Given the description of an element on the screen output the (x, y) to click on. 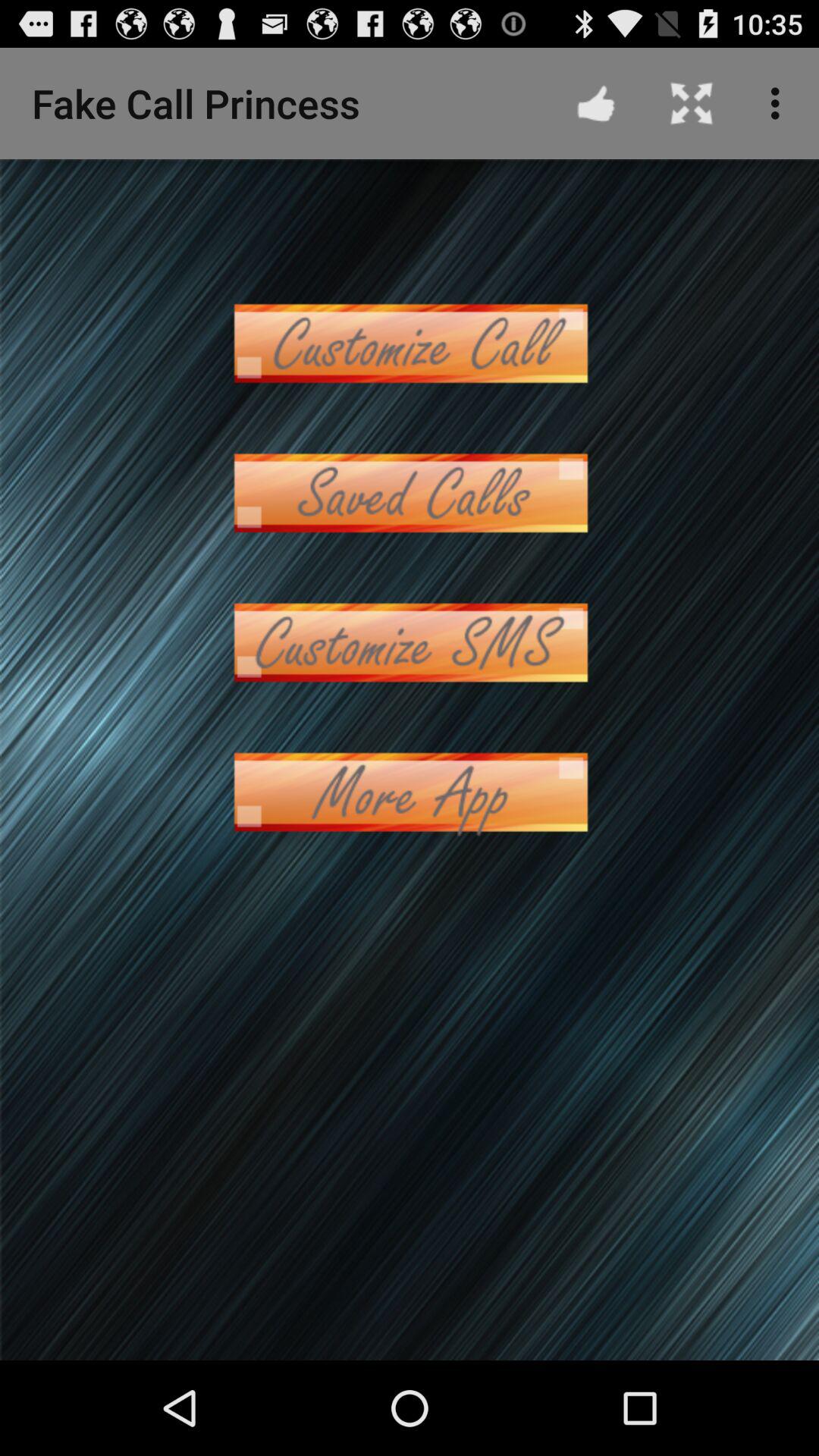
go to codtomize sms option (409, 642)
